Given the description of an element on the screen output the (x, y) to click on. 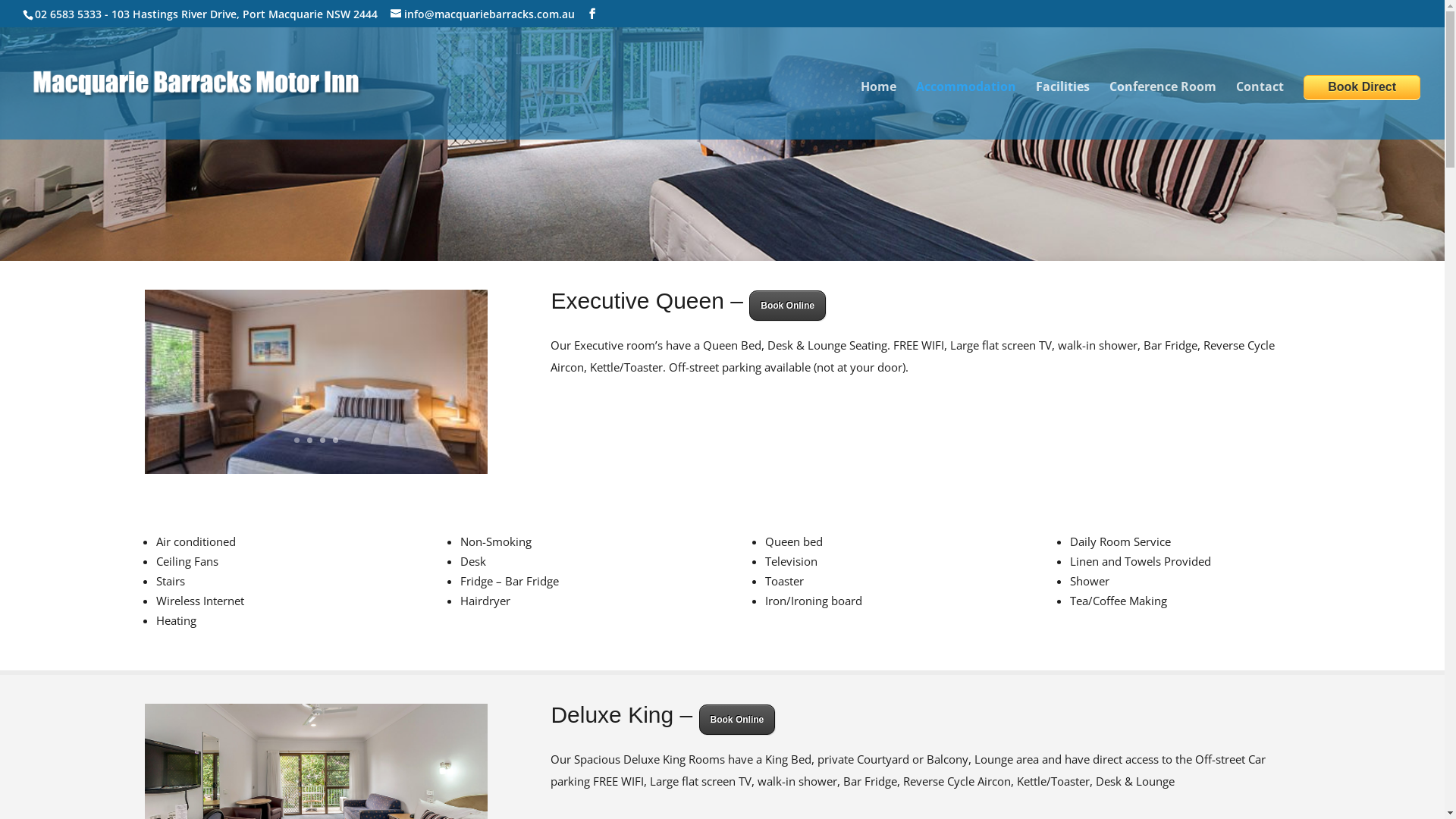
info@macquariebarracks.com.au Element type: text (482, 13)
1 Element type: text (296, 439)
Home Element type: text (878, 110)
Book Online Element type: text (787, 305)
Book Online Element type: text (737, 719)
Conference Room Element type: text (1162, 110)
Facilities Element type: text (1062, 110)
3 Element type: text (322, 439)
Book Direct Element type: text (1361, 87)
2 Element type: text (309, 439)
Queen Room (1) Element type: hover (315, 468)
Contact Element type: text (1259, 110)
Accommodation Element type: text (966, 110)
4 Element type: text (335, 439)
